Given the description of an element on the screen output the (x, y) to click on. 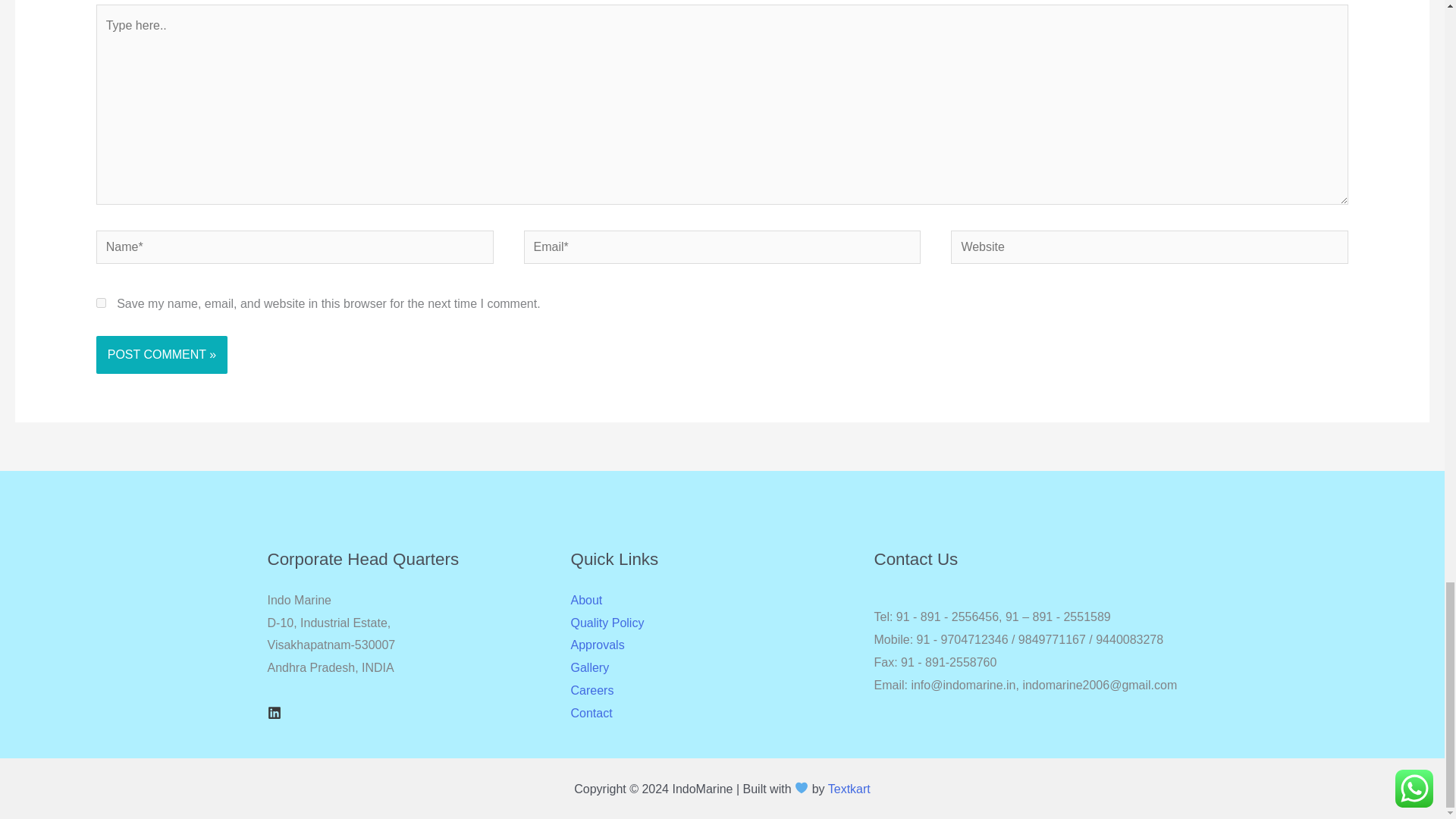
Gallery (589, 667)
Approvals (597, 644)
About (586, 599)
yes (101, 302)
Quality Policy (606, 622)
